Given the description of an element on the screen output the (x, y) to click on. 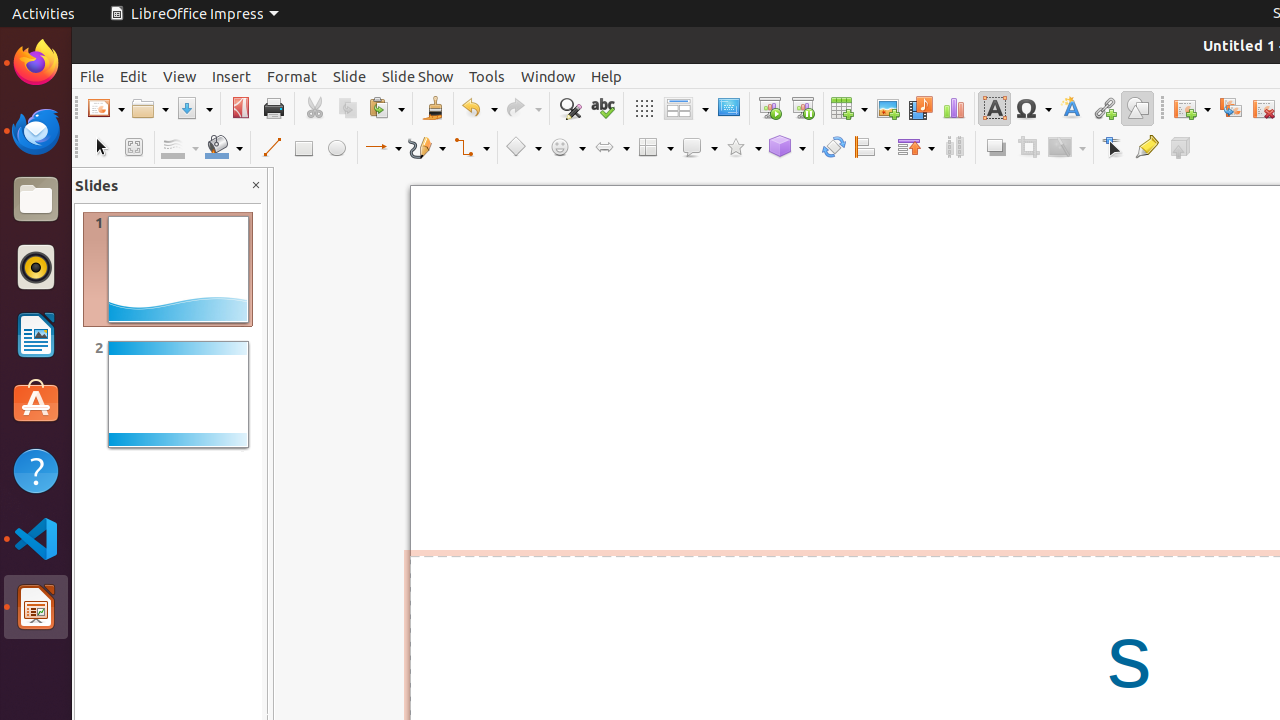
Flowchart Shapes Element type: push-button (655, 147)
Save Element type: push-button (194, 108)
Zoom & Pan Element type: push-button (133, 147)
Align Element type: push-button (872, 147)
Open Element type: push-button (150, 108)
